Given the description of an element on the screen output the (x, y) to click on. 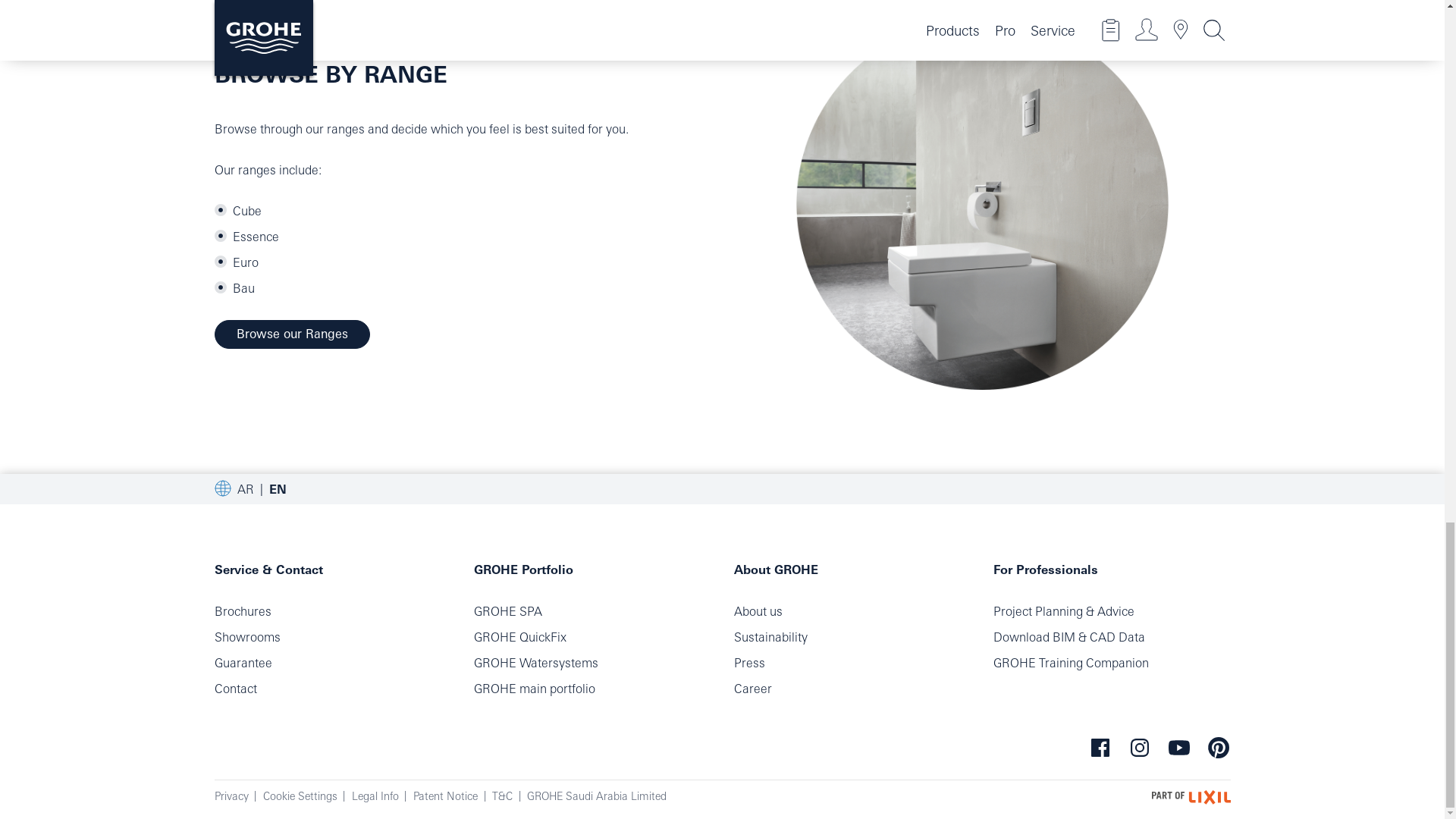
Browse our Ranges (981, 202)
Brochures (242, 611)
Showrooms (246, 636)
Browse our Ranges (291, 334)
